Given the description of an element on the screen output the (x, y) to click on. 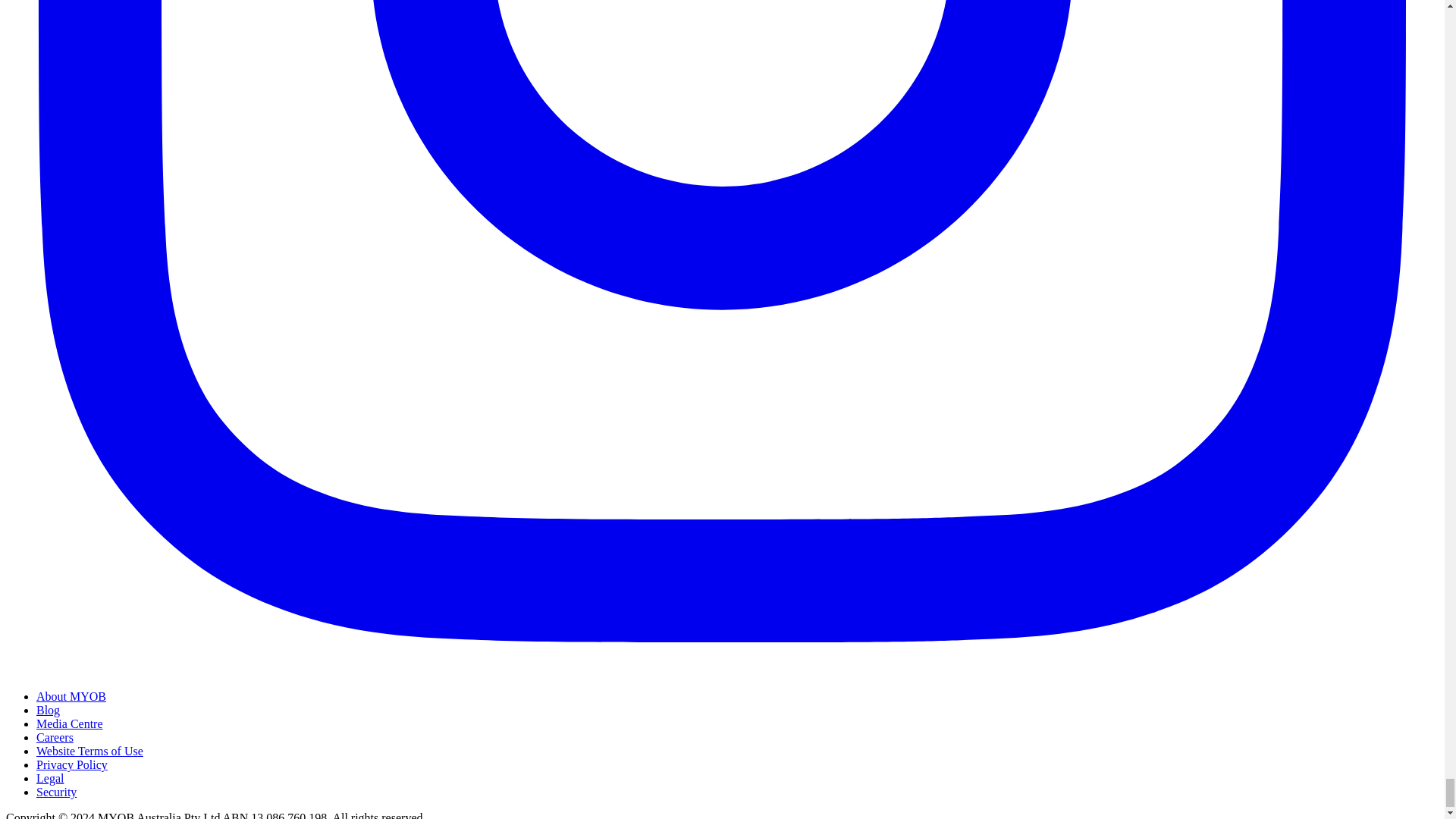
Careers (55, 737)
Security (56, 791)
Blog (47, 709)
About MYOB (71, 696)
Website Terms of Use (89, 750)
Media Centre (69, 723)
Privacy Policy (71, 764)
Legal (50, 778)
